Given the description of an element on the screen output the (x, y) to click on. 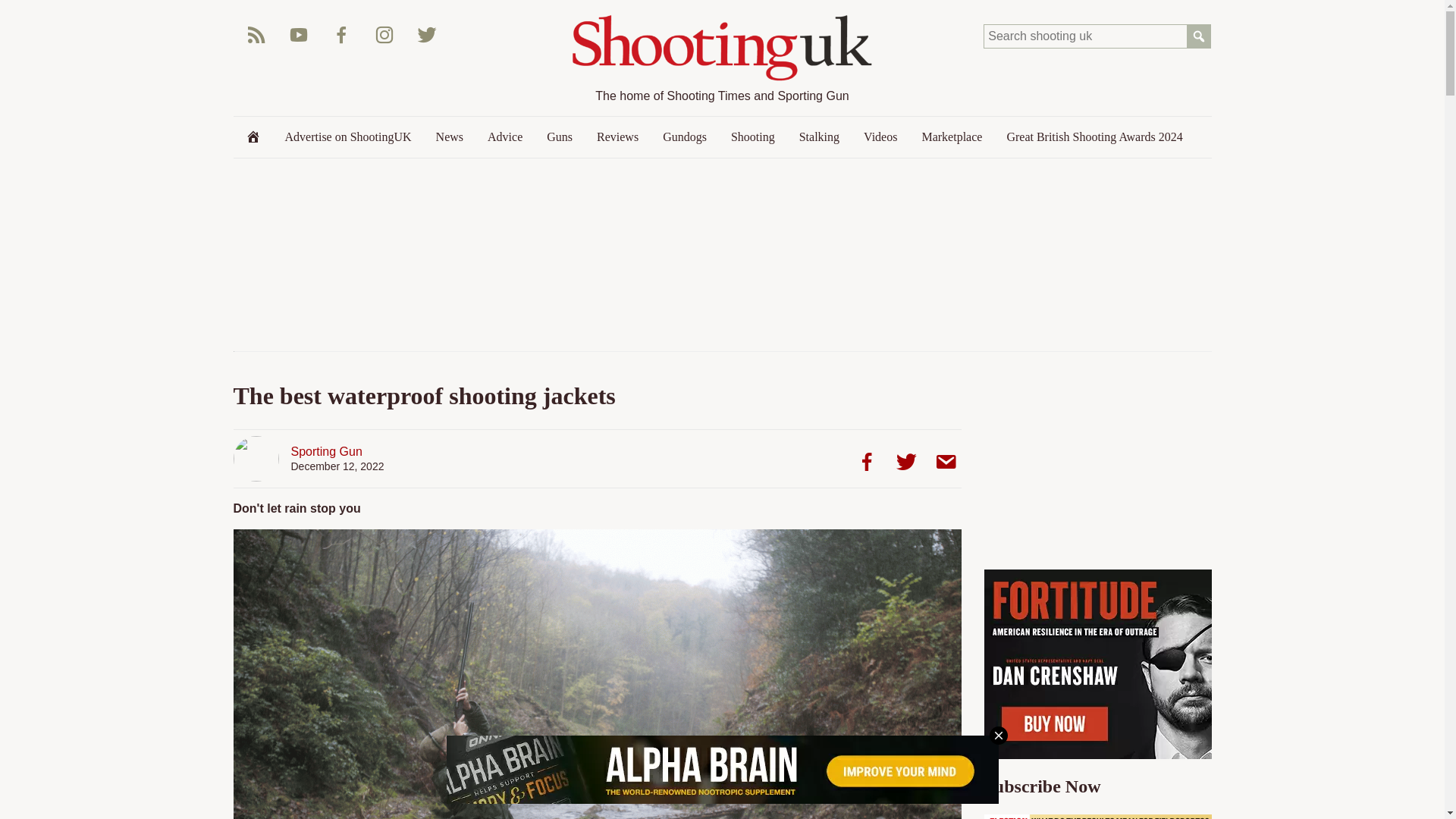
Subscribe Now (1097, 816)
